Given the description of an element on the screen output the (x, y) to click on. 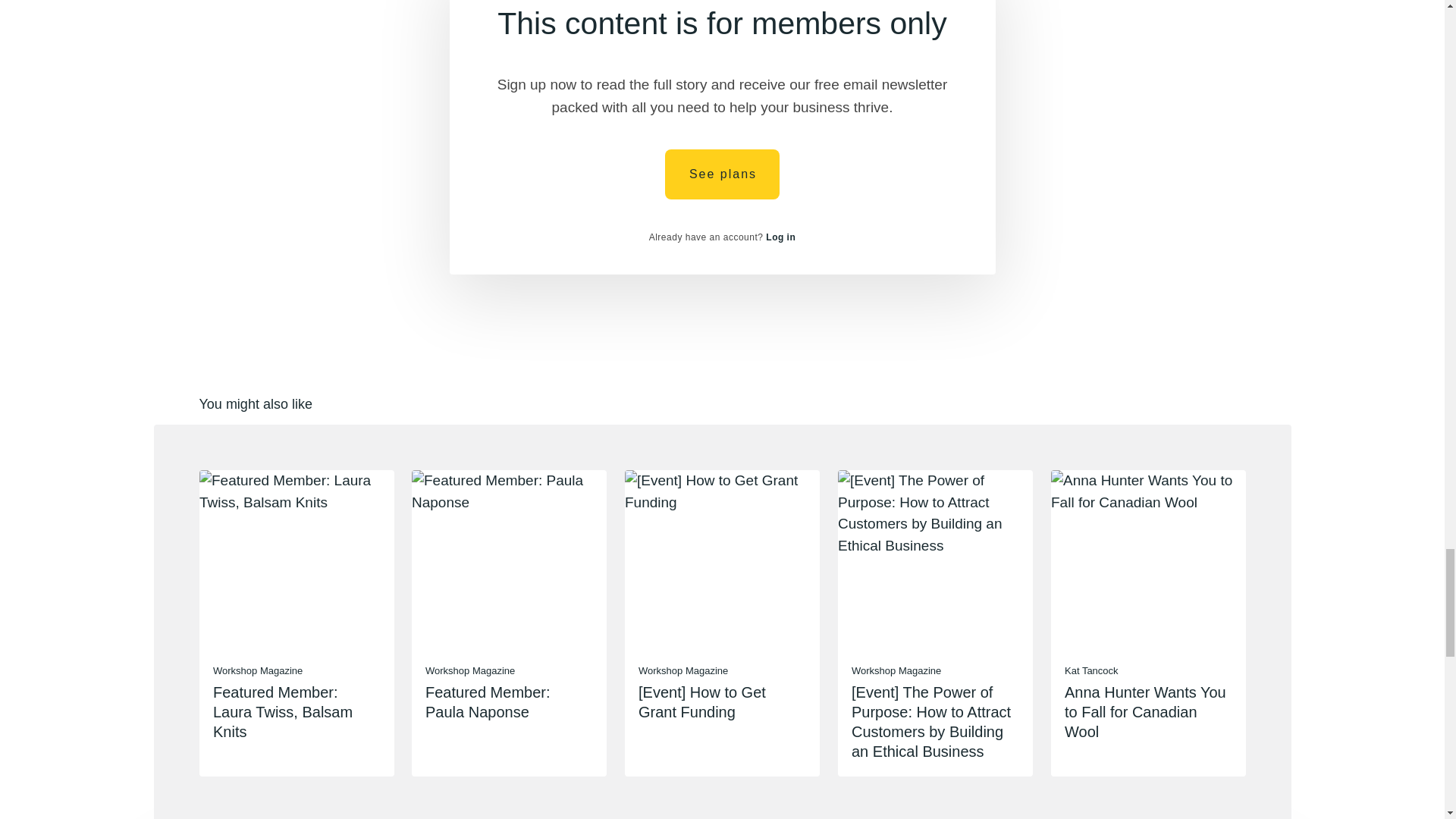
Kat Tancock (1091, 670)
Workshop Magazine (256, 670)
Log in (779, 236)
See plans (721, 174)
Workshop Magazine (470, 670)
Anna Hunter Wants You to Fall for Canadian Wool (1144, 711)
Featured Member: Laura Twiss, Balsam Knits (282, 711)
Featured Member: Paula Naponse (487, 701)
Workshop Magazine (683, 670)
Workshop Magazine (895, 670)
